Given the description of an element on the screen output the (x, y) to click on. 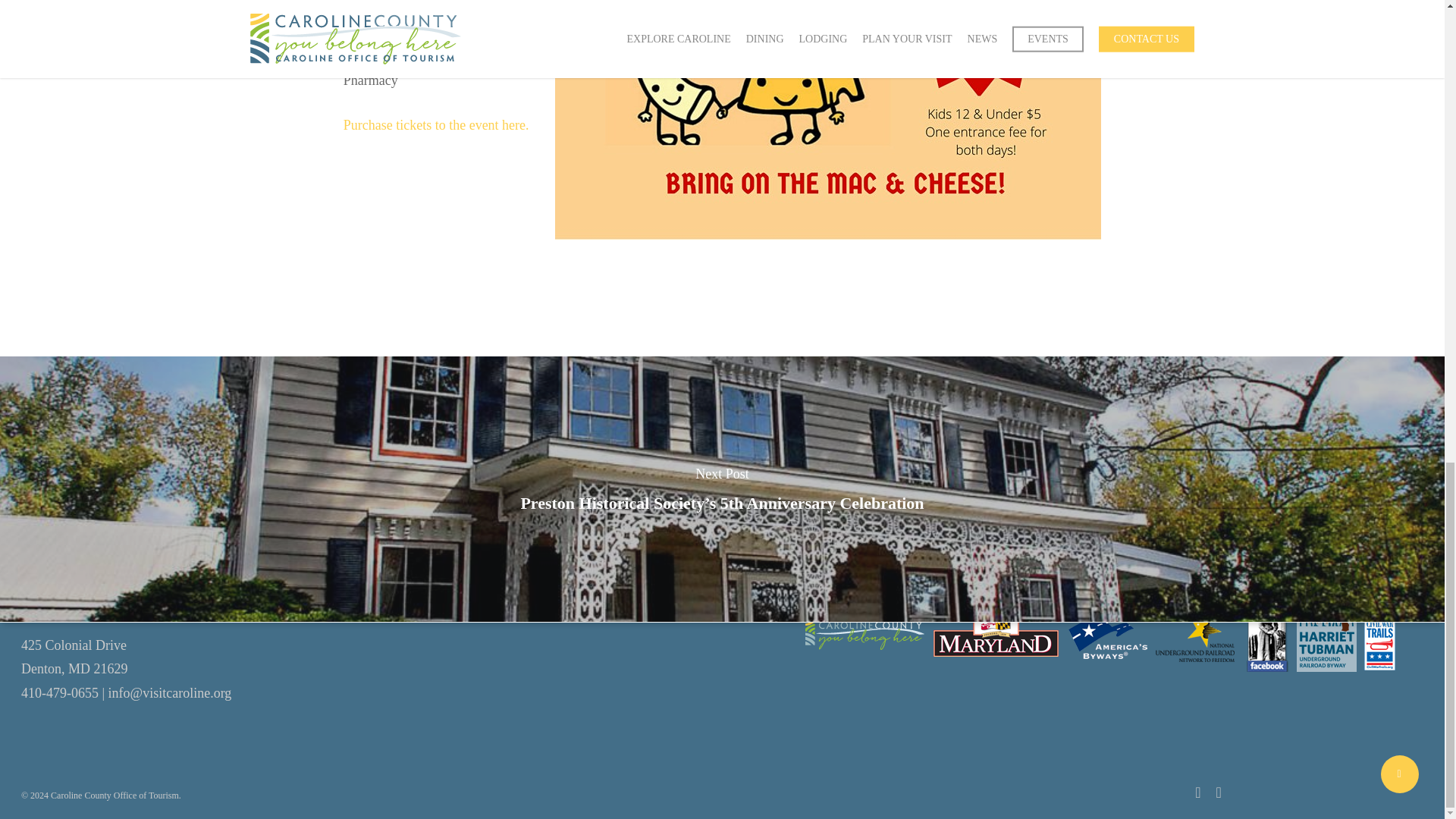
Purchase tickets to the event here. (436, 124)
